Given the description of an element on the screen output the (x, y) to click on. 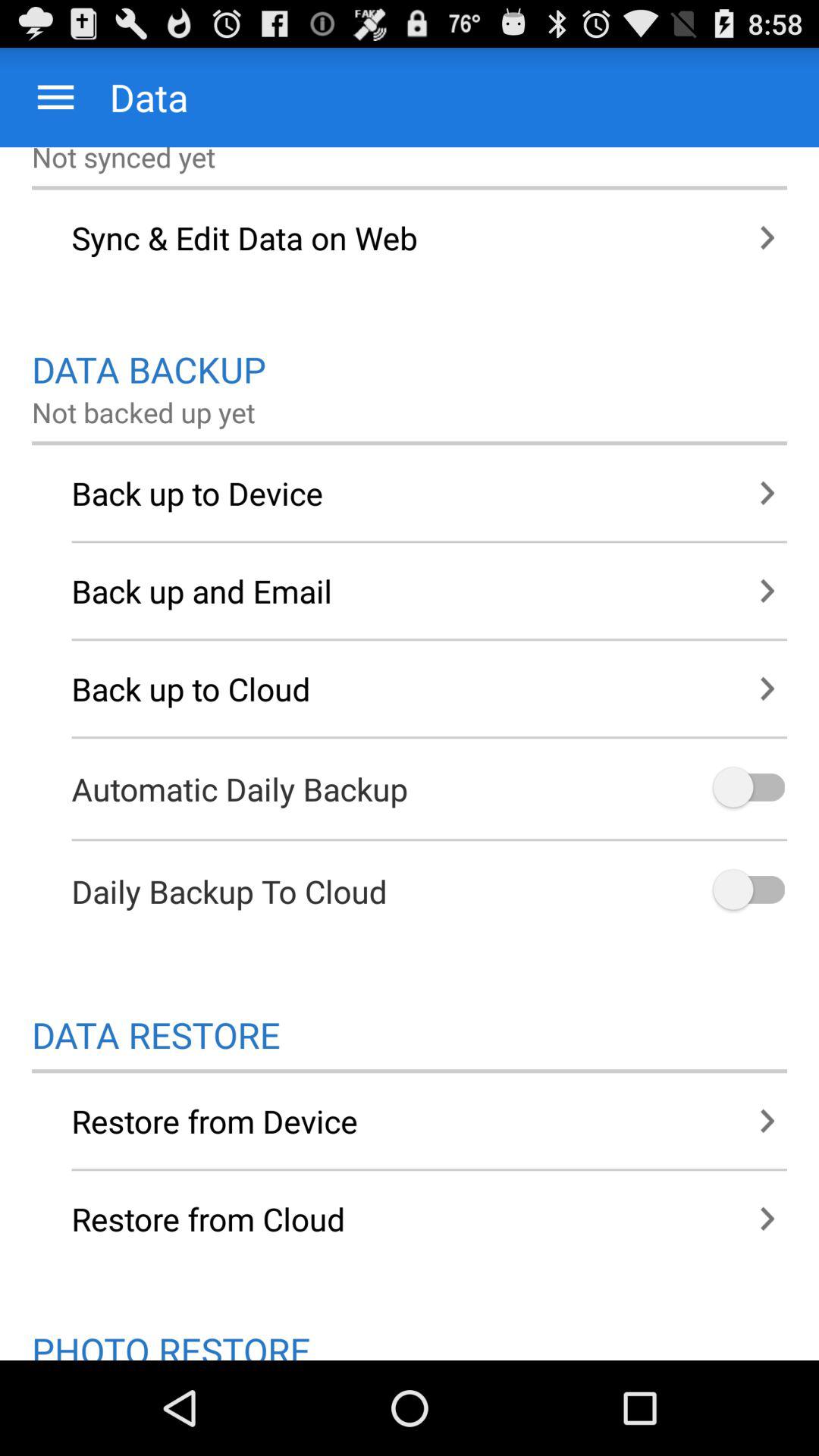
choose app next to data icon (55, 97)
